Given the description of an element on the screen output the (x, y) to click on. 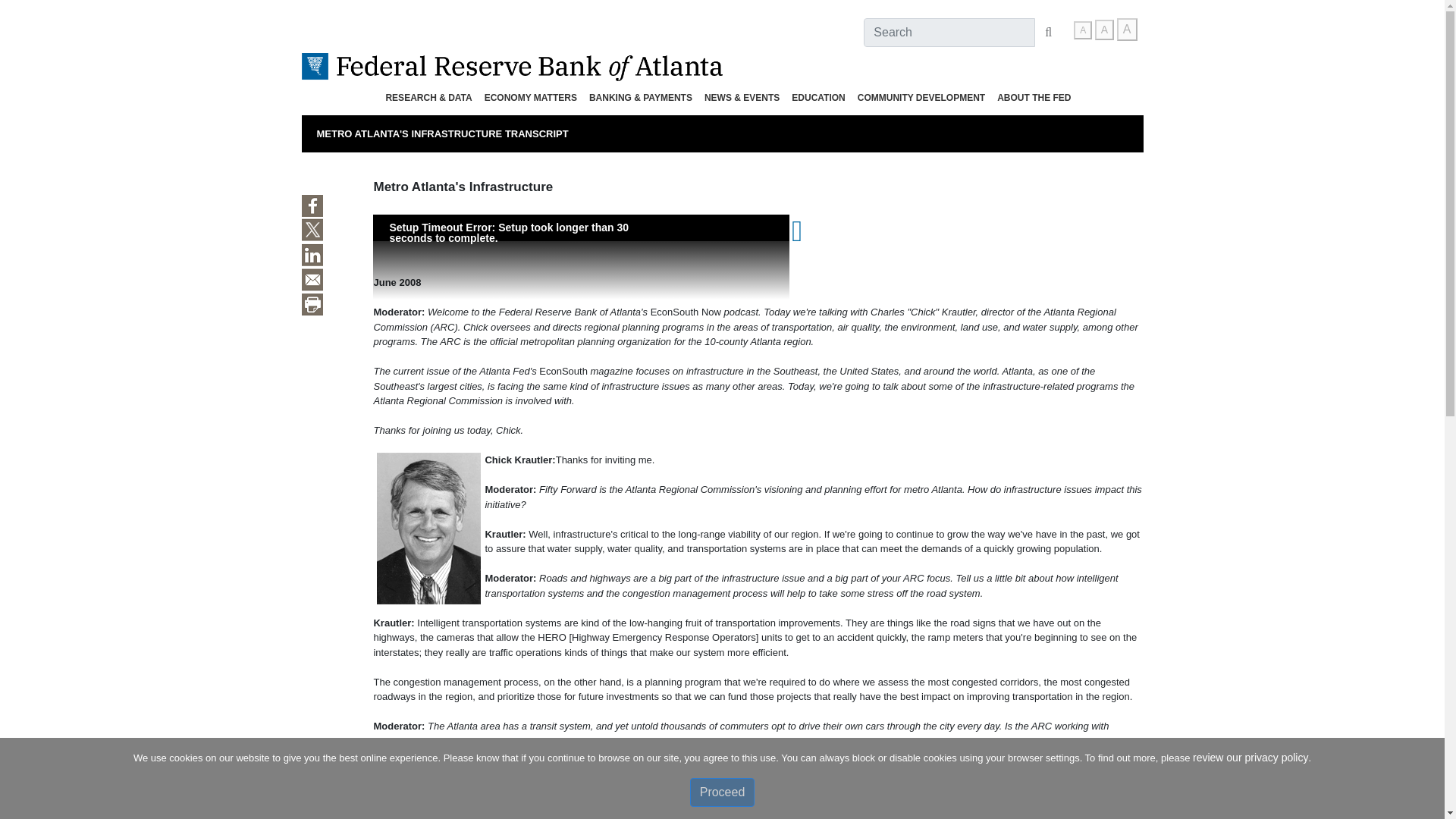
Facebook share (312, 205)
A (1126, 29)
Link to privacy policy (1250, 757)
A (1103, 29)
A (1083, 30)
ECONOMY MATTERS (531, 97)
